Given the description of an element on the screen output the (x, y) to click on. 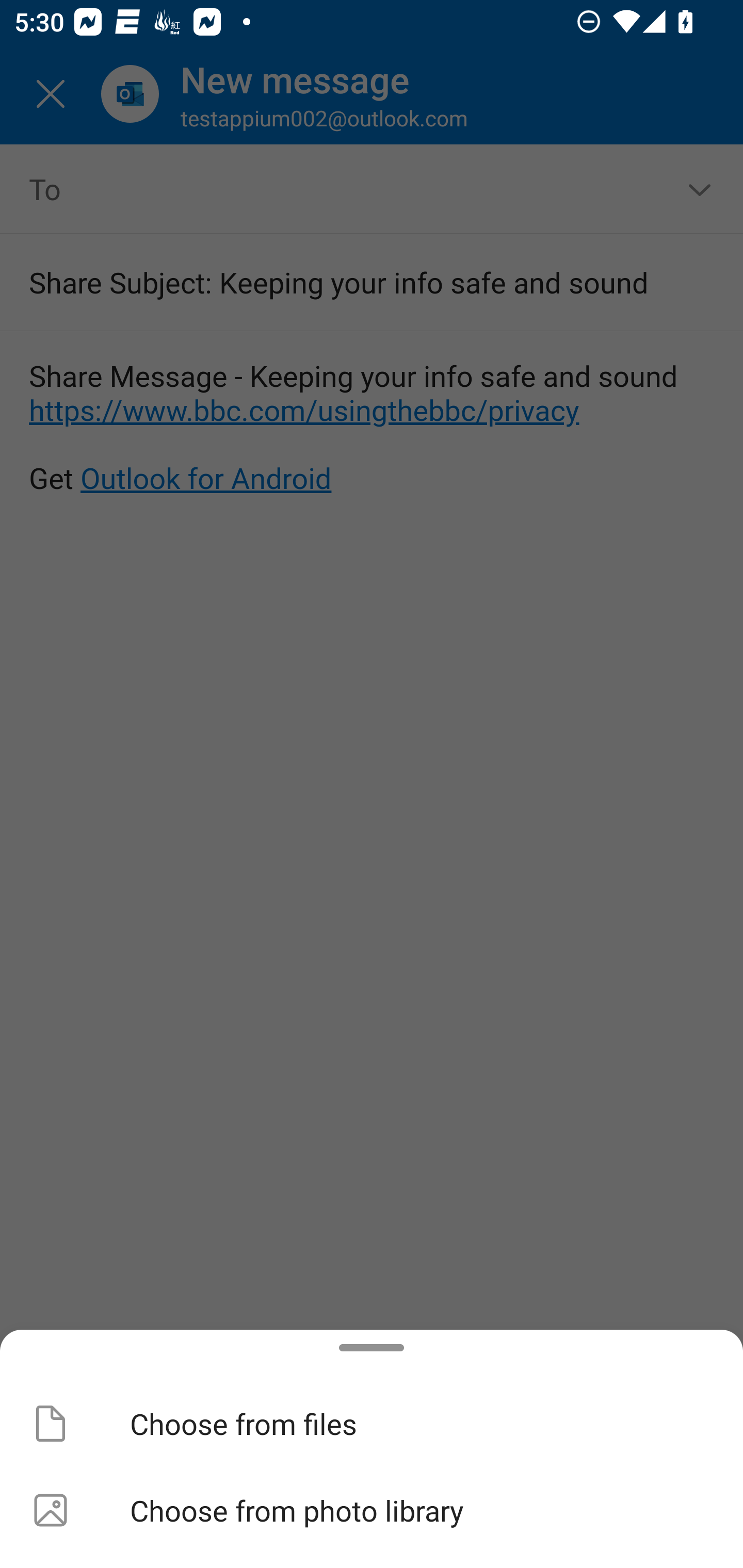
Choose from files (371, 1423)
Choose from photo library (371, 1510)
